Given the description of an element on the screen output the (x, y) to click on. 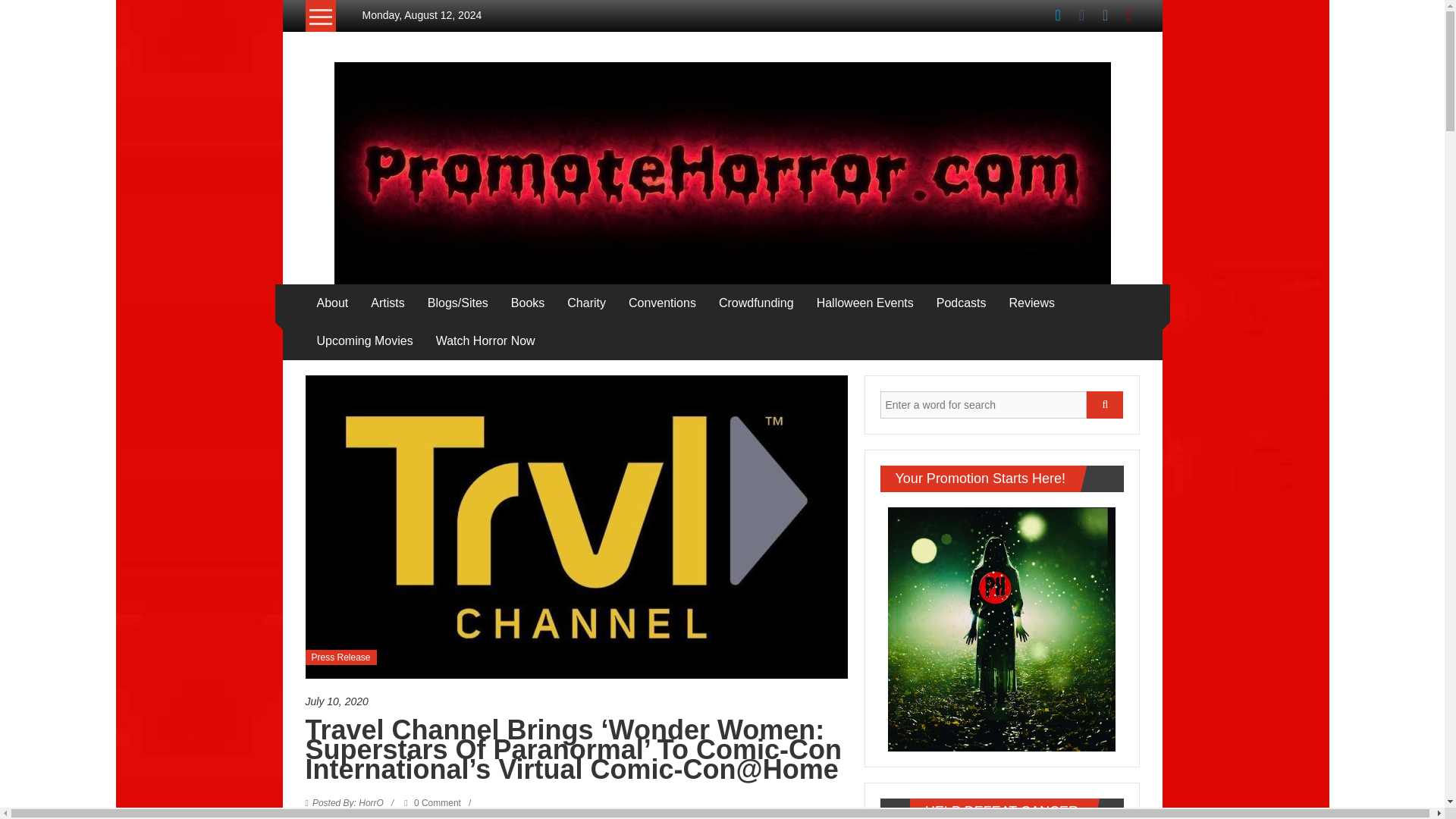
Press Release (339, 657)
Halloween Events (865, 303)
9:00 am (575, 701)
Upcoming Movies (365, 341)
Crowdfunding (756, 303)
Reviews (1031, 303)
Charity (586, 303)
July 10, 2020 (575, 701)
0 Comment (432, 802)
HorrO (348, 802)
